Given the description of an element on the screen output the (x, y) to click on. 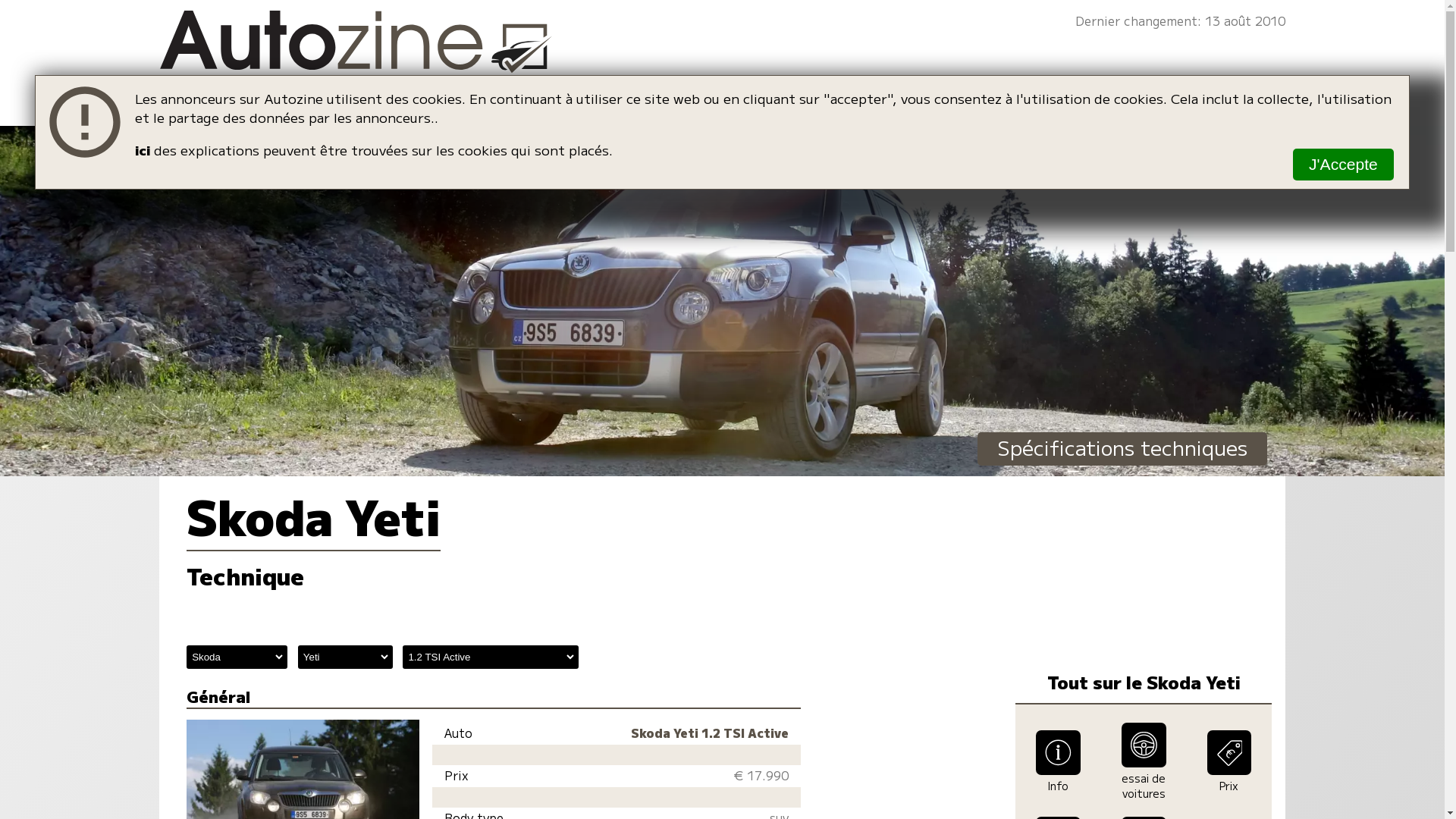
  Element type: text (1228, 124)
J'Accepte Element type: text (1342, 164)
Autozine Element type: hover (722, 49)
COMPARER Element type: text (827, 125)
TOUTES LES VOITURES Element type: text (290, 125)
Info Element type: text (1057, 781)
essai de voitures Element type: text (1143, 782)
OPINION Element type: text (655, 125)
Prix Element type: text (1228, 781)
Cherchez Element type: hover (1228, 124)
ESSAIS Element type: text (497, 125)
ici Element type: text (142, 149)
FORUM Element type: text (995, 125)
